Given the description of an element on the screen output the (x, y) to click on. 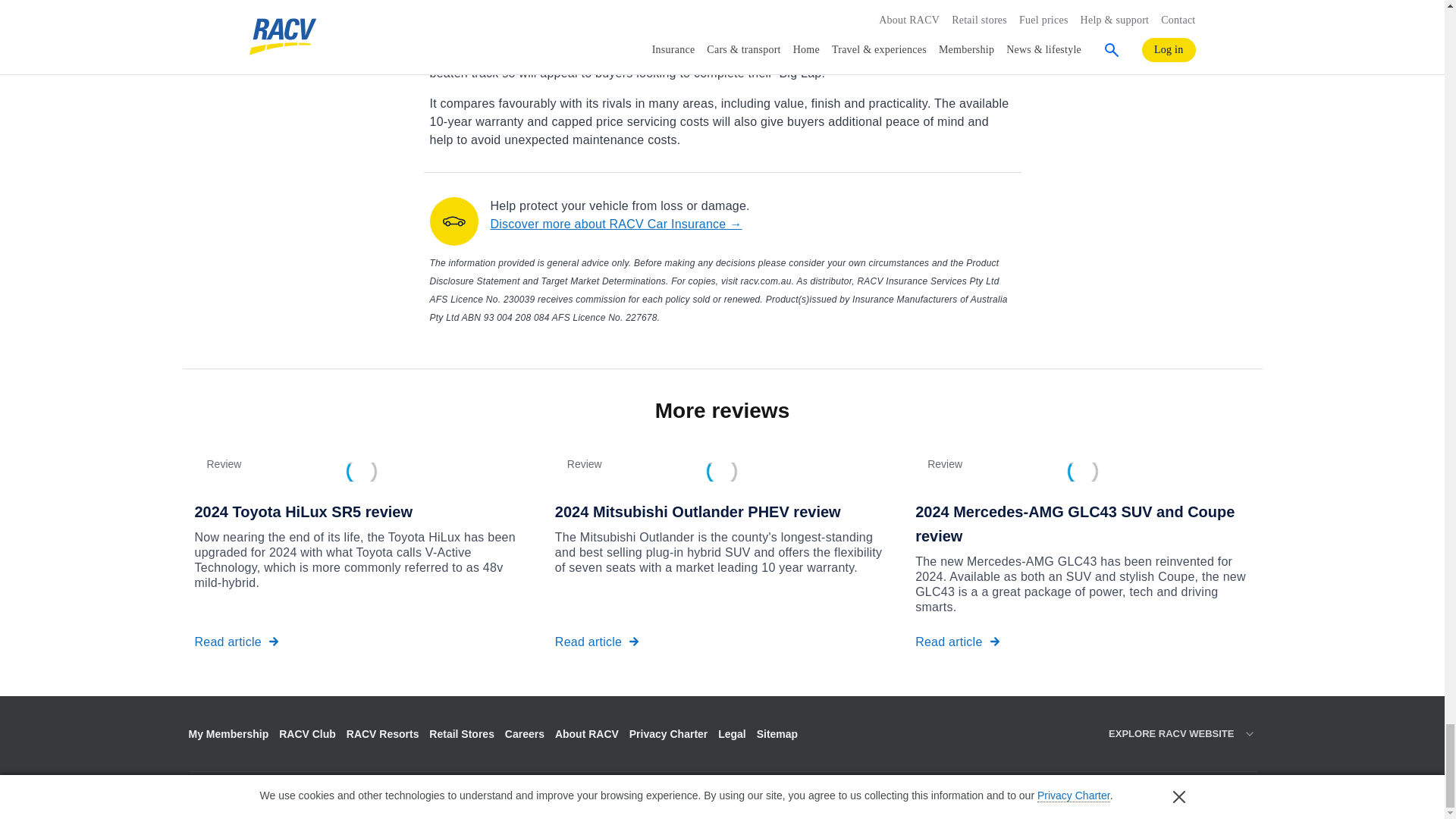
LinkedIn (245, 793)
YouTube (296, 794)
Facebook (195, 794)
Instagram (271, 794)
